Given the description of an element on the screen output the (x, y) to click on. 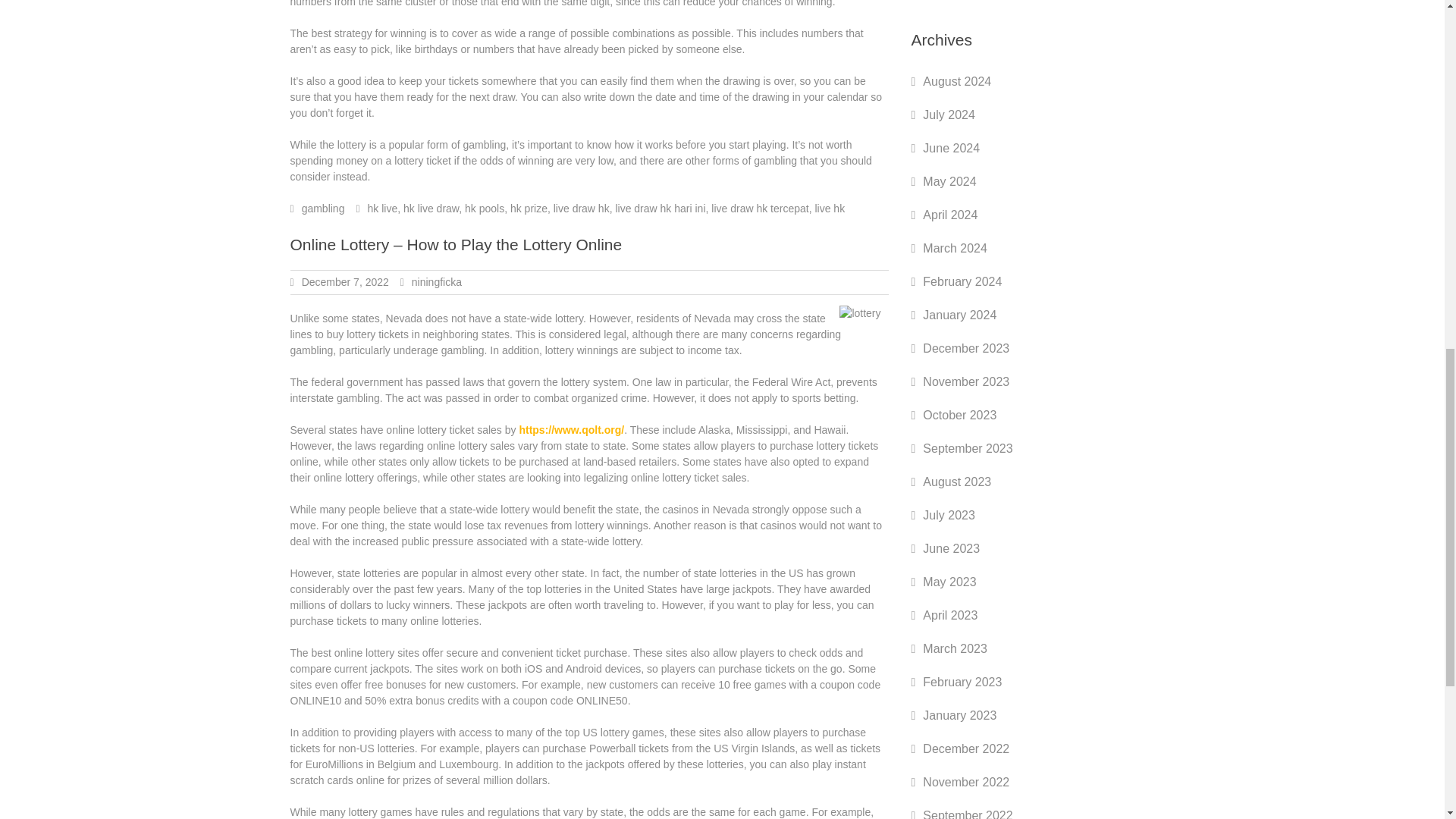
December 7, 2022 (344, 282)
hk prize (529, 208)
niningficka (436, 282)
live draw hk tercepat (759, 208)
hk live draw (430, 208)
August 2024 (957, 81)
live draw hk (581, 208)
live draw hk hari ini (659, 208)
gambling (323, 208)
live hk (828, 208)
hk pools (483, 208)
hk live (382, 208)
